Given the description of an element on the screen output the (x, y) to click on. 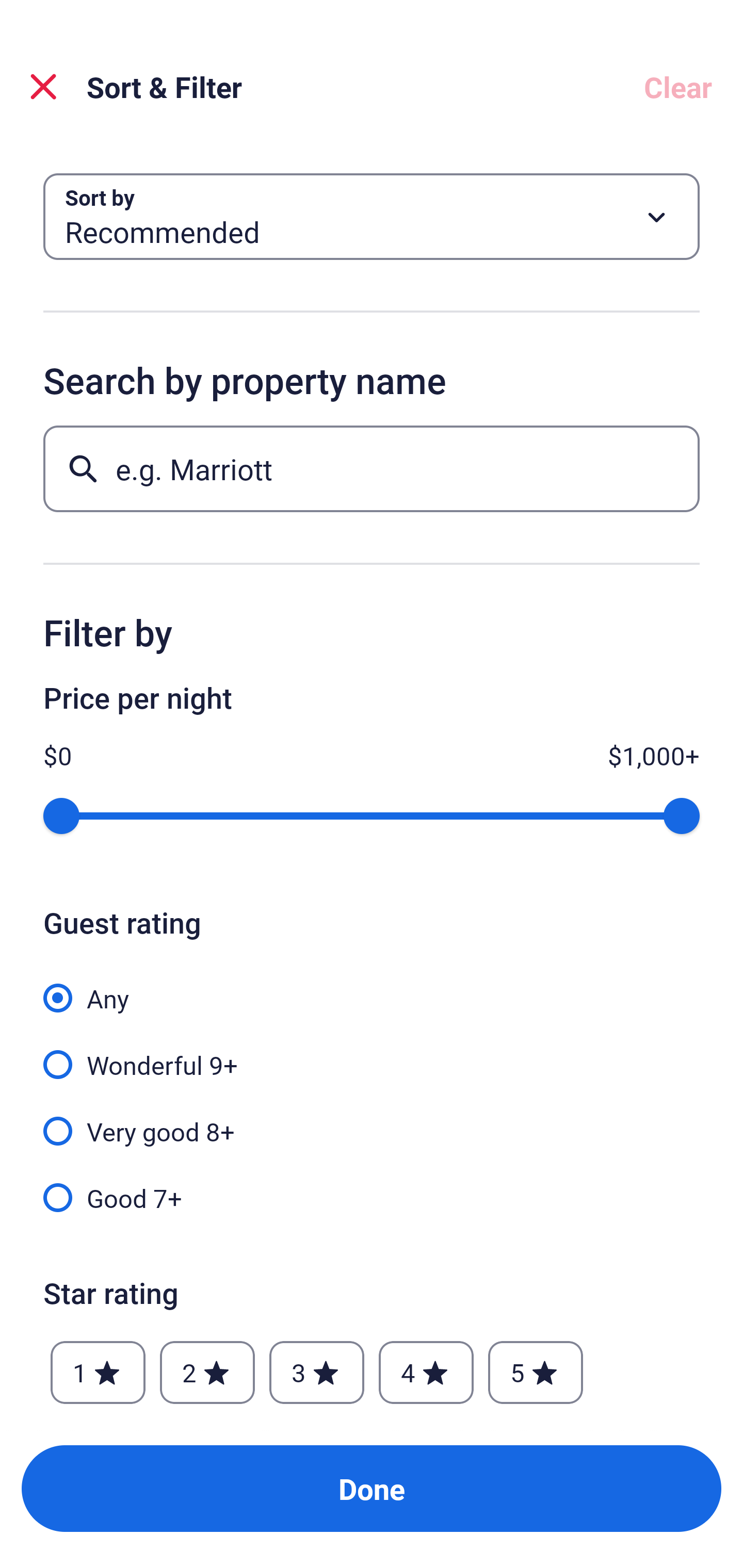
Close Sort and Filter (43, 86)
Clear (677, 86)
Sort by Button Recommended (371, 217)
e.g. Marriott Button (371, 468)
Wonderful 9+ (371, 1053)
Very good 8+ (371, 1120)
Good 7+ (371, 1197)
1 (97, 1372)
2 (206, 1372)
3 (316, 1372)
4 (426, 1372)
5 (535, 1372)
Apply and close Sort and Filter Done (371, 1488)
